Given the description of an element on the screen output the (x, y) to click on. 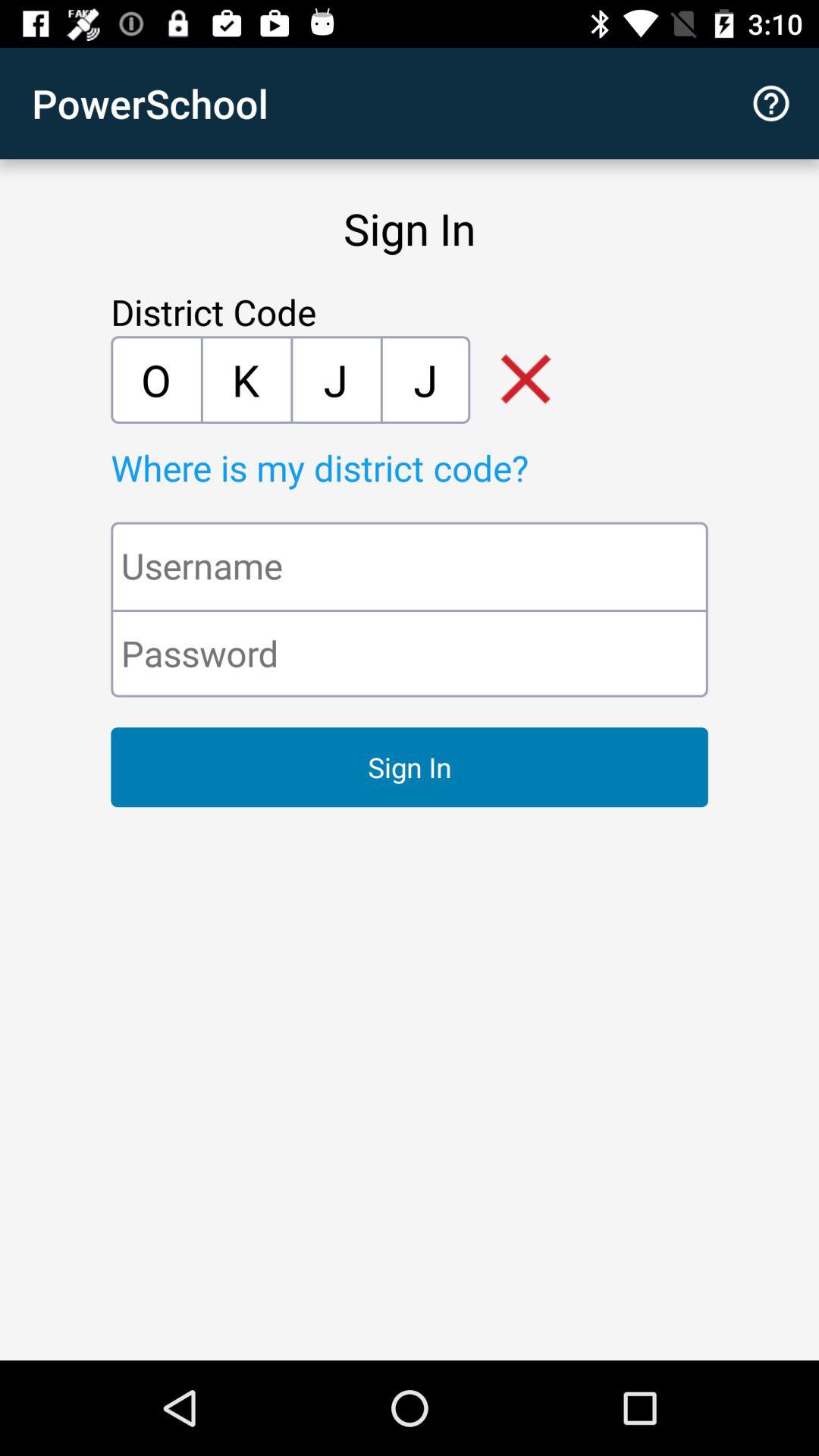
click icon below the where is my icon (409, 565)
